Given the description of an element on the screen output the (x, y) to click on. 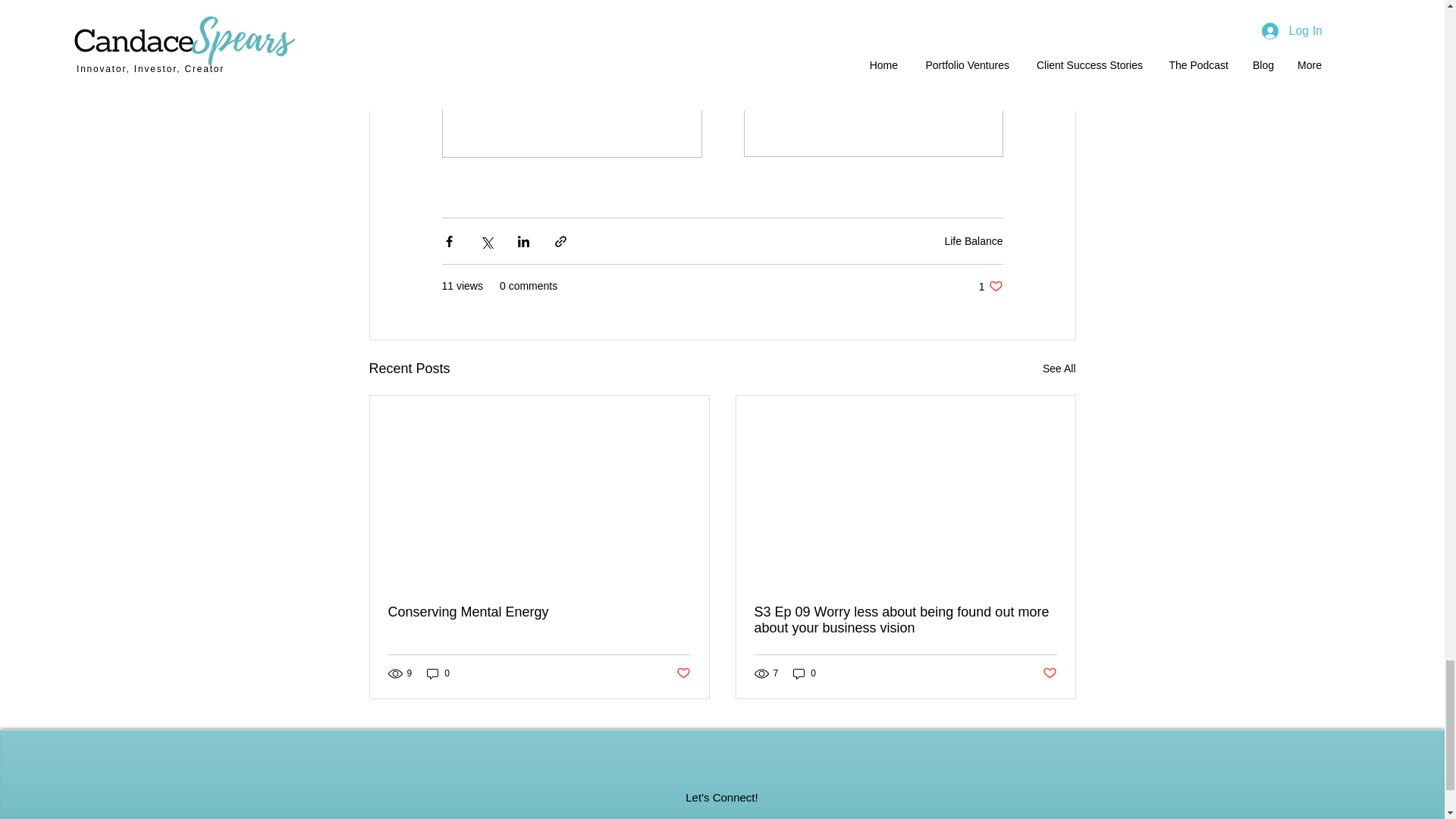
Conserving Mental Energy (539, 611)
See All (1058, 368)
Life Balance (973, 241)
0 (990, 286)
Post not marked as liked (438, 673)
